Given the description of an element on the screen output the (x, y) to click on. 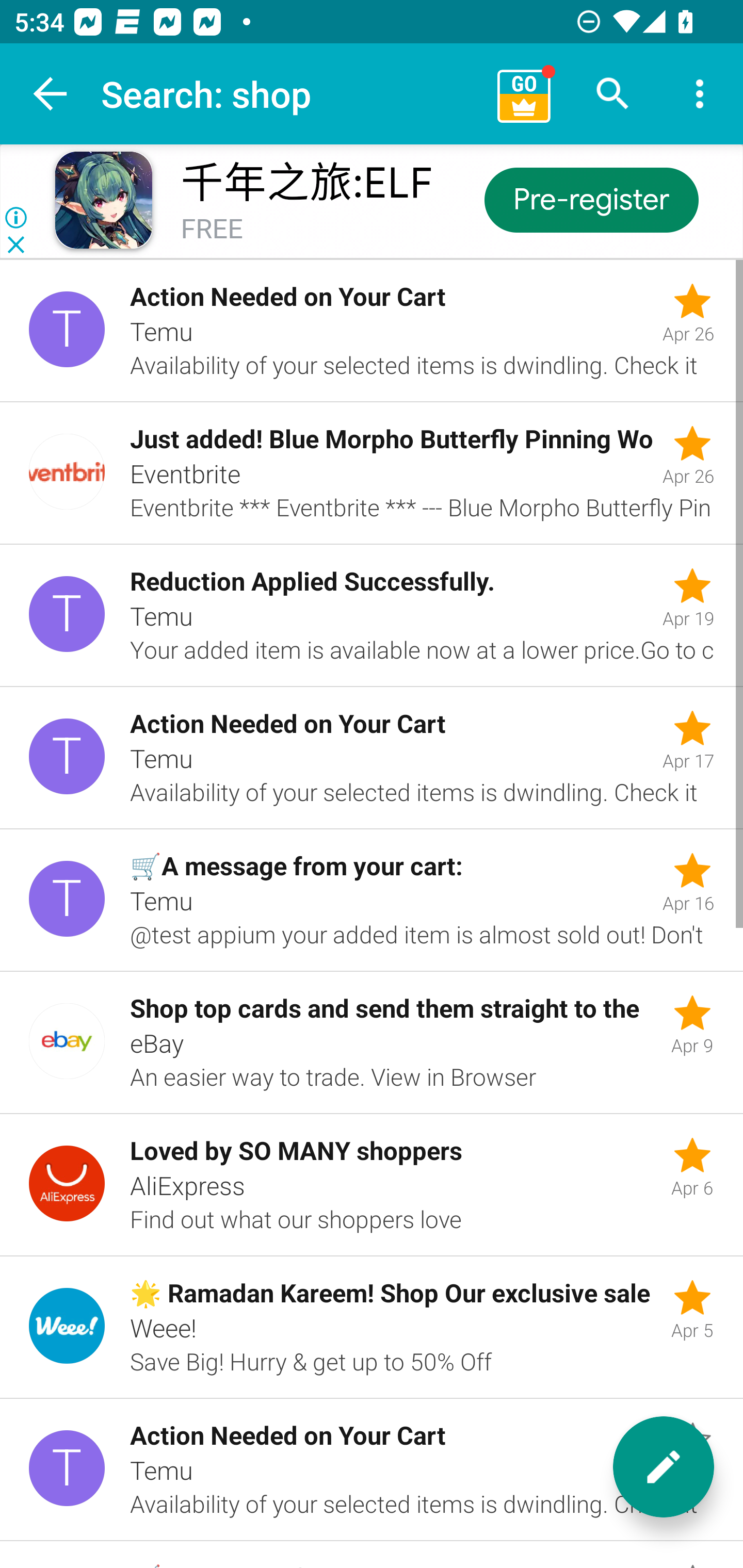
Navigate up (50, 93)
Search (612, 93)
More options (699, 93)
千年之旅:ELF (306, 183)
Pre-register (590, 199)
FREE (211, 230)
New message (663, 1466)
